Given the description of an element on the screen output the (x, y) to click on. 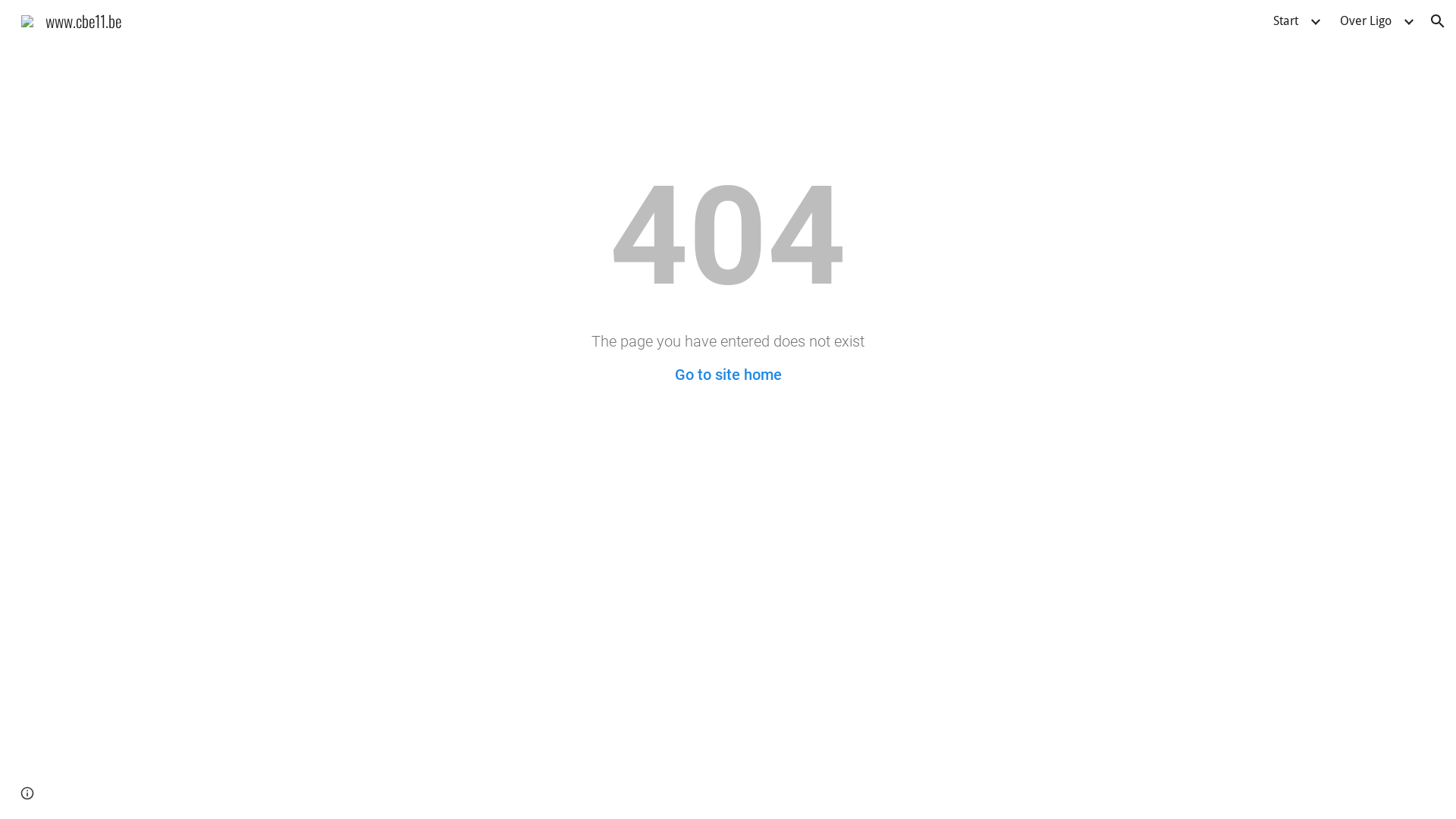
www.cbe11.be Element type: text (71, 18)
Expand/Collapse Element type: hover (1408, 20)
Go to site home Element type: text (727, 374)
Over Ligo Element type: text (1365, 20)
Expand/Collapse Element type: hover (1314, 20)
Start Element type: text (1285, 20)
